Given the description of an element on the screen output the (x, y) to click on. 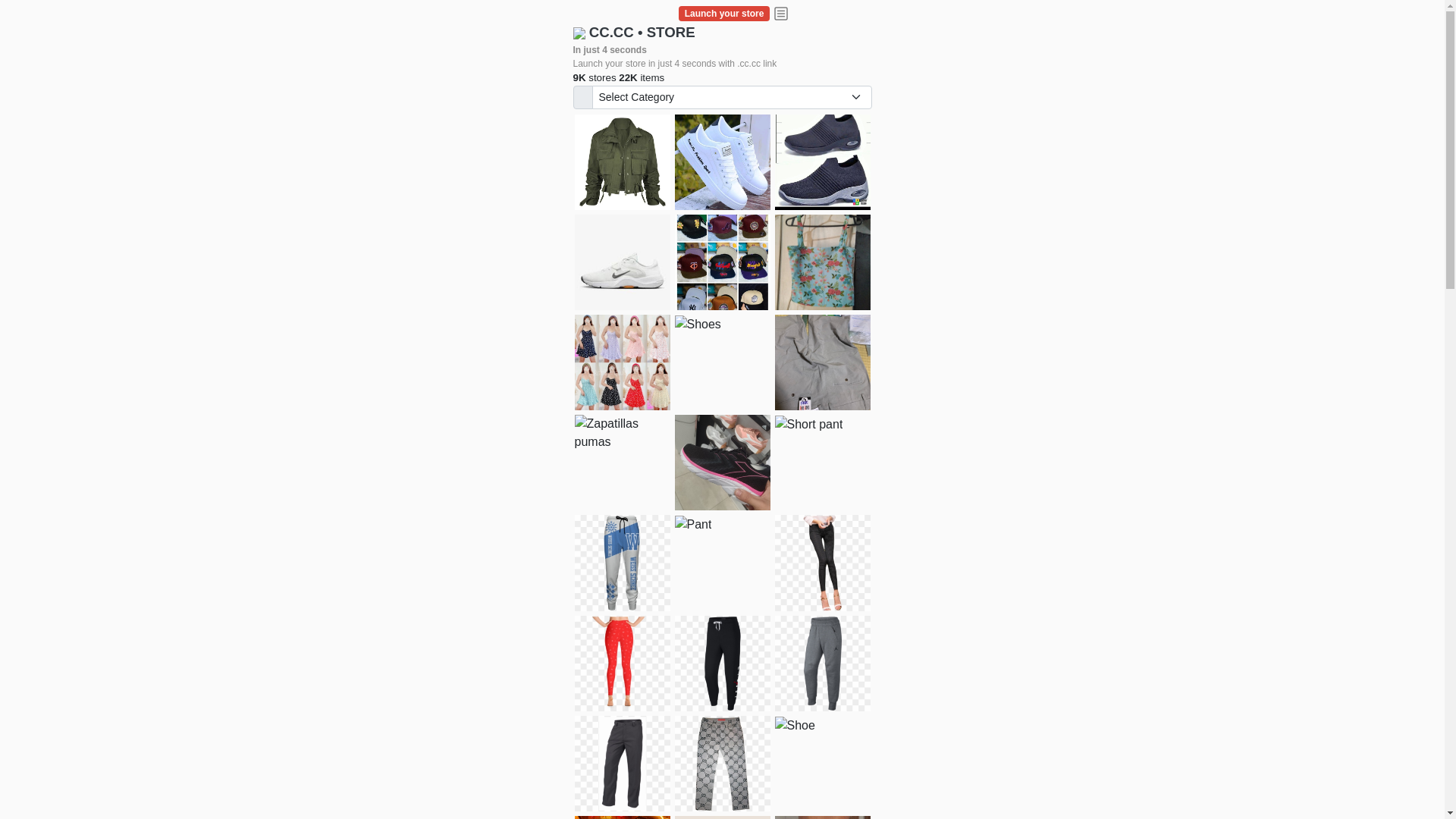
Shoes Element type: hover (697, 324)
Ukay cloth Element type: hover (822, 262)
Shoe Element type: hover (795, 725)
Pant Element type: hover (722, 763)
Pant Element type: hover (622, 562)
Pant Element type: hover (693, 524)
Dress/square nect top Element type: hover (622, 362)
Pant Element type: hover (822, 663)
Zapatillas pumas Element type: hover (622, 432)
Pant Element type: hover (622, 763)
Pant Element type: hover (622, 663)
Short pant Element type: hover (809, 424)
Launch your store Element type: text (723, 13)
Zapatillas Element type: hover (722, 462)
shoes for boys Element type: hover (822, 162)
Shoes for boys Element type: hover (622, 262)
jacket Element type: hover (622, 162)
Things we need Element type: hover (722, 262)
white shoes Element type: hover (722, 162)
Pant Element type: hover (822, 562)
Pant Element type: hover (722, 663)
